Given the description of an element on the screen output the (x, y) to click on. 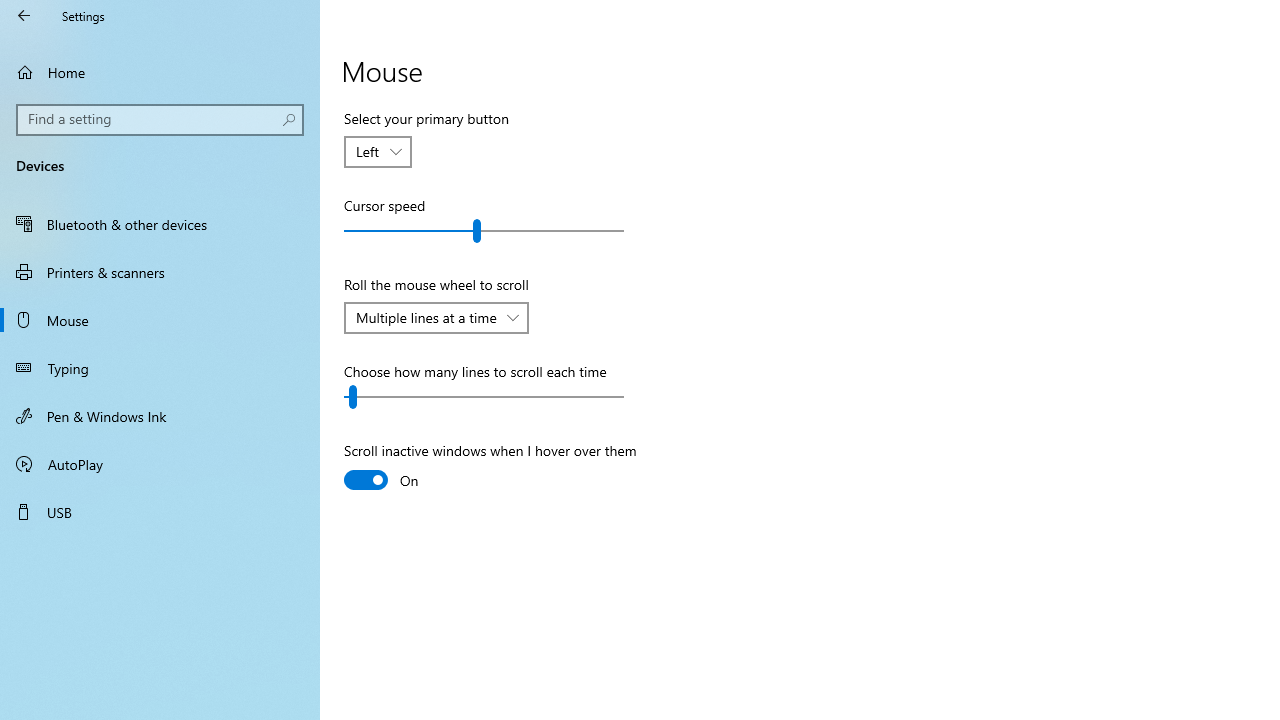
Select your primary button (378, 151)
Left (367, 151)
USB (160, 511)
Scroll inactive windows when I hover over them (490, 468)
Printers & scanners (160, 271)
Typing (160, 367)
Roll the mouse wheel to scroll (436, 317)
Cursor speed (484, 230)
Pen & Windows Ink (160, 415)
Mouse (160, 319)
AutoPlay (160, 463)
Home (160, 71)
Choose how many lines to scroll each time (484, 396)
Search box, Find a setting (160, 119)
Back (24, 15)
